Given the description of an element on the screen output the (x, y) to click on. 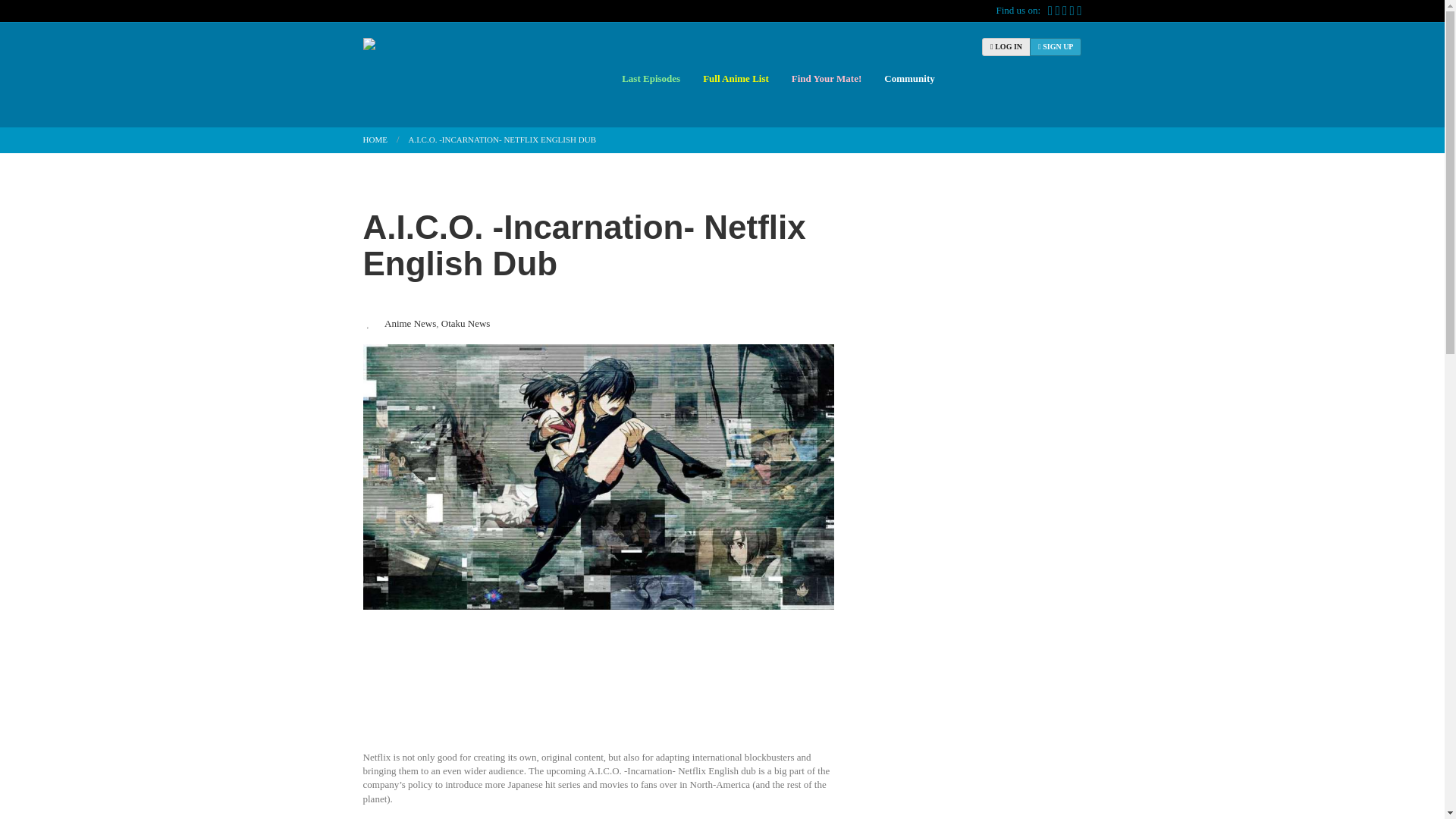
Anime News (409, 324)
LOG IN (1005, 46)
Otaku News (465, 324)
Full Anime List (735, 78)
Advertisement (598, 685)
Community (907, 78)
SIGN UP (1055, 46)
A.I.C.O. -Incarnation- Netflix English Dub (583, 244)
HOME (374, 139)
Last Episodes (650, 78)
